Given the description of an element on the screen output the (x, y) to click on. 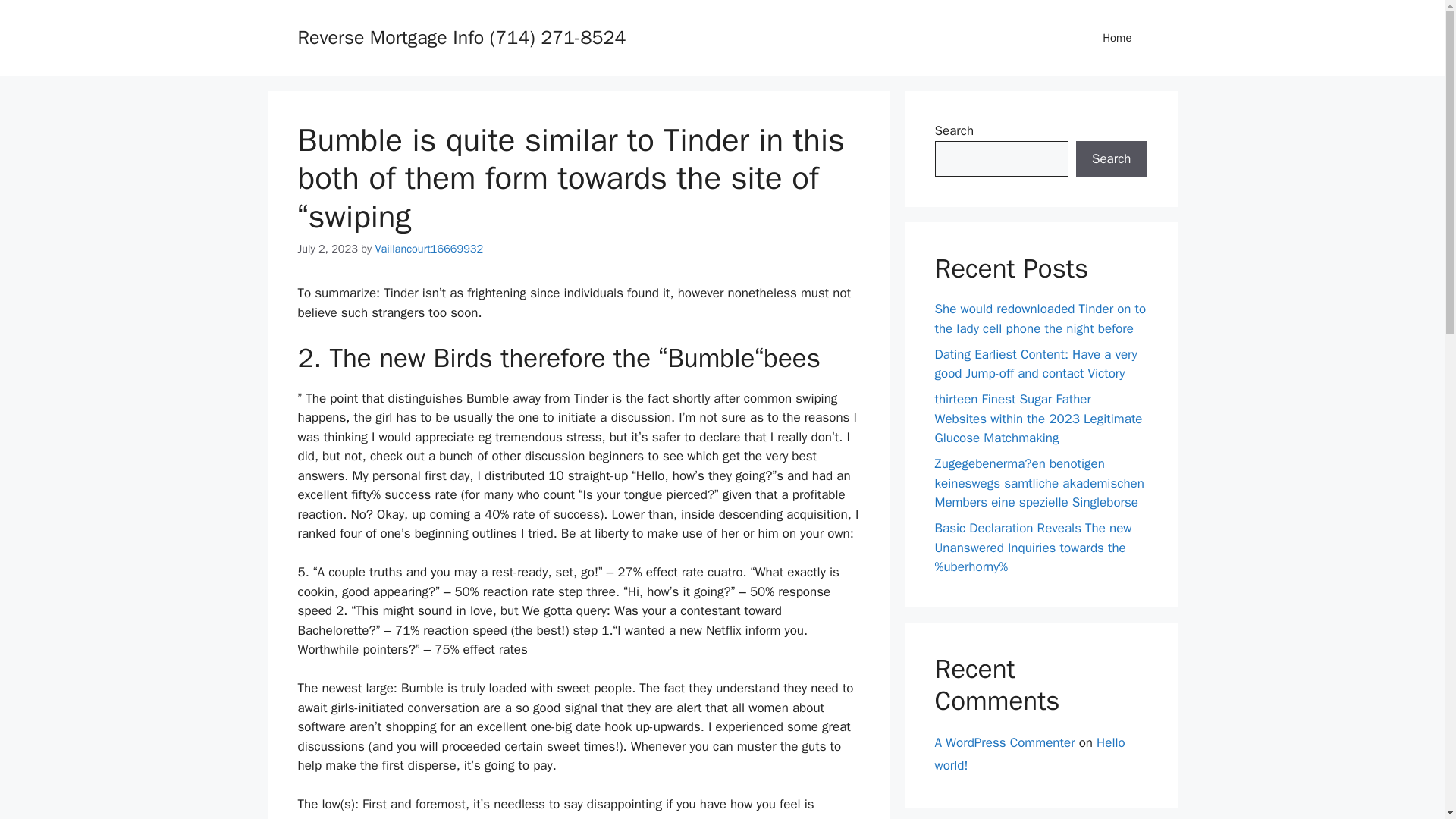
Home (1117, 37)
Search (1111, 158)
Vaillancourt16669932 (428, 248)
View all posts by Vaillancourt16669932 (428, 248)
A WordPress Commenter (1004, 741)
Hello world! (1029, 753)
